Given the description of an element on the screen output the (x, y) to click on. 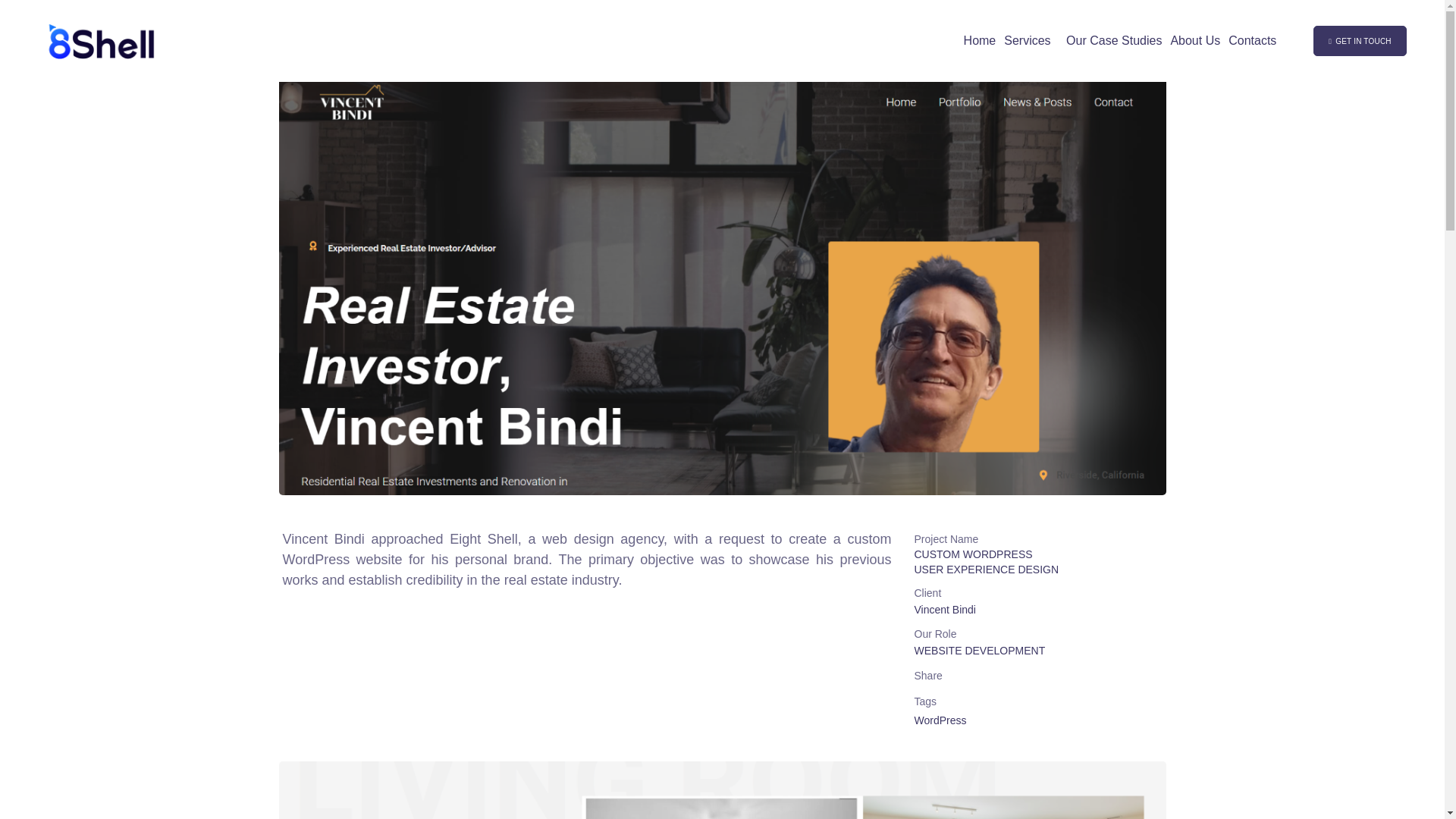
1678876351895bb (722, 790)
Our Case Studies (1113, 40)
GET IN TOUCH (1359, 40)
Eight-Shell-Logo-removebg-preview (101, 40)
